Given the description of an element on the screen output the (x, y) to click on. 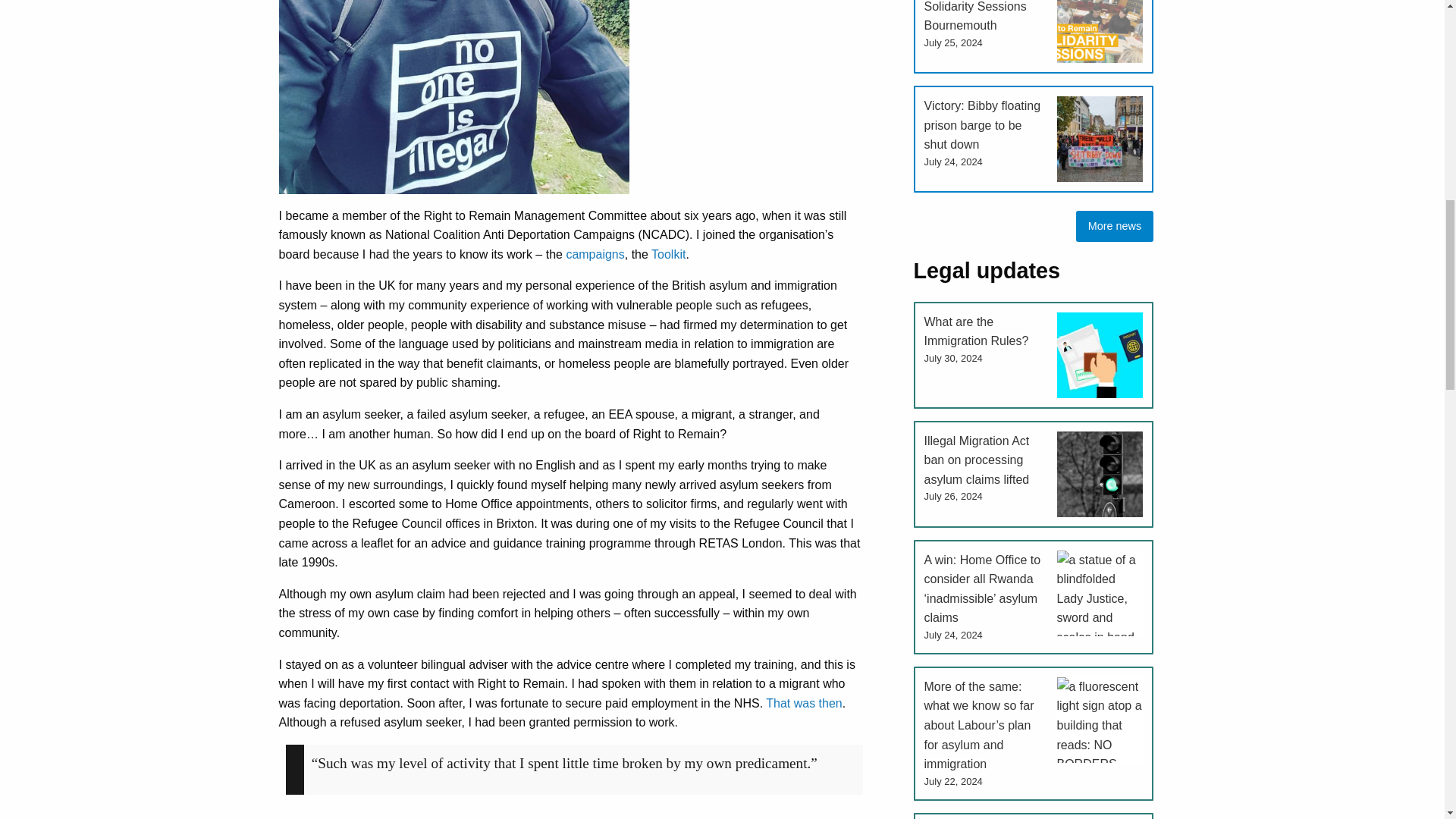
campaigns (595, 254)
Toolkit (667, 254)
That was then (804, 703)
